Given the description of an element on the screen output the (x, y) to click on. 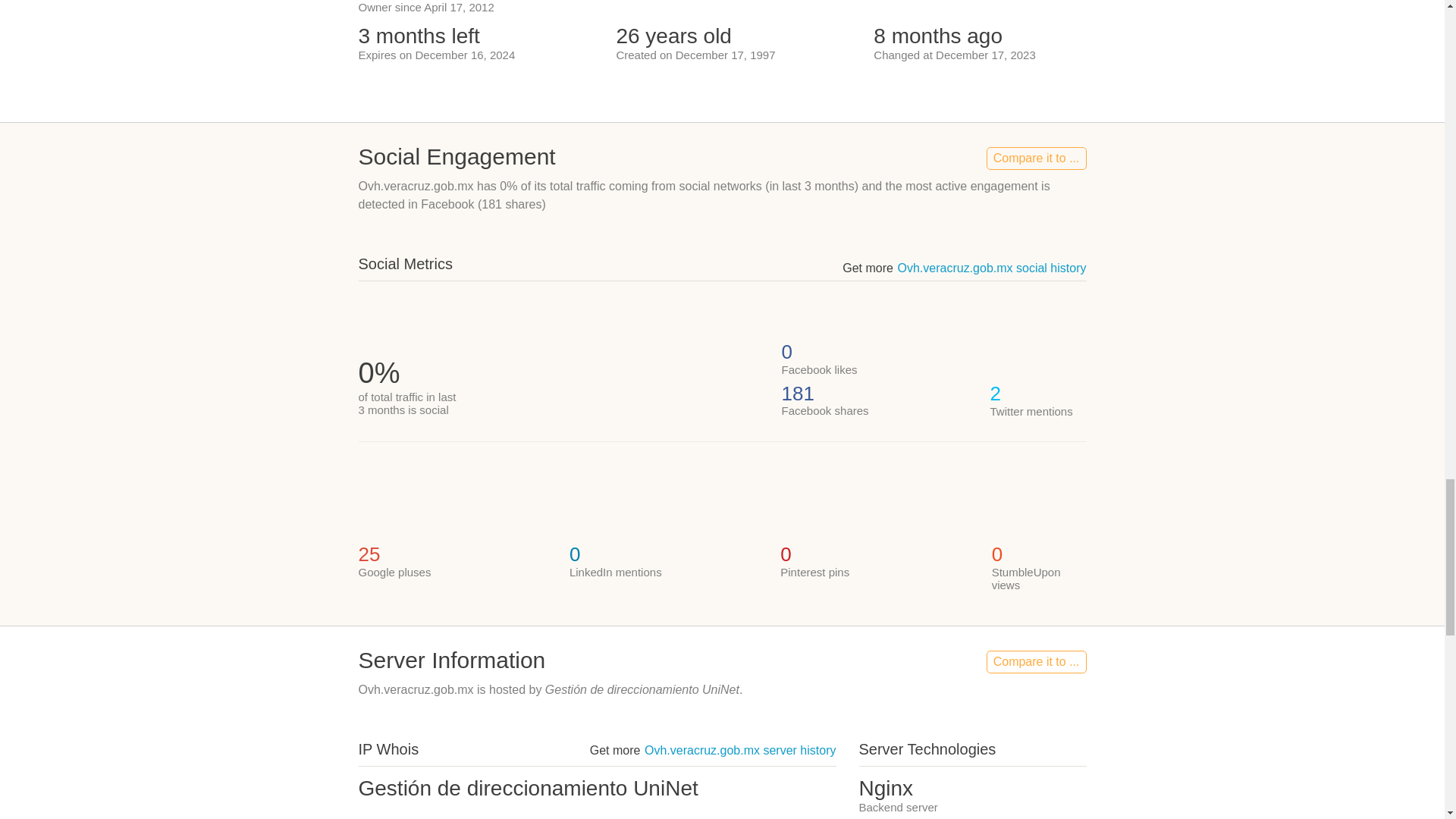
Ovh.veracruz.gob.mx server history (740, 749)
Compare it to ... (1036, 158)
Compare it to ... (1036, 661)
Ovh.veracruz.gob.mx social history (992, 267)
